Given the description of an element on the screen output the (x, y) to click on. 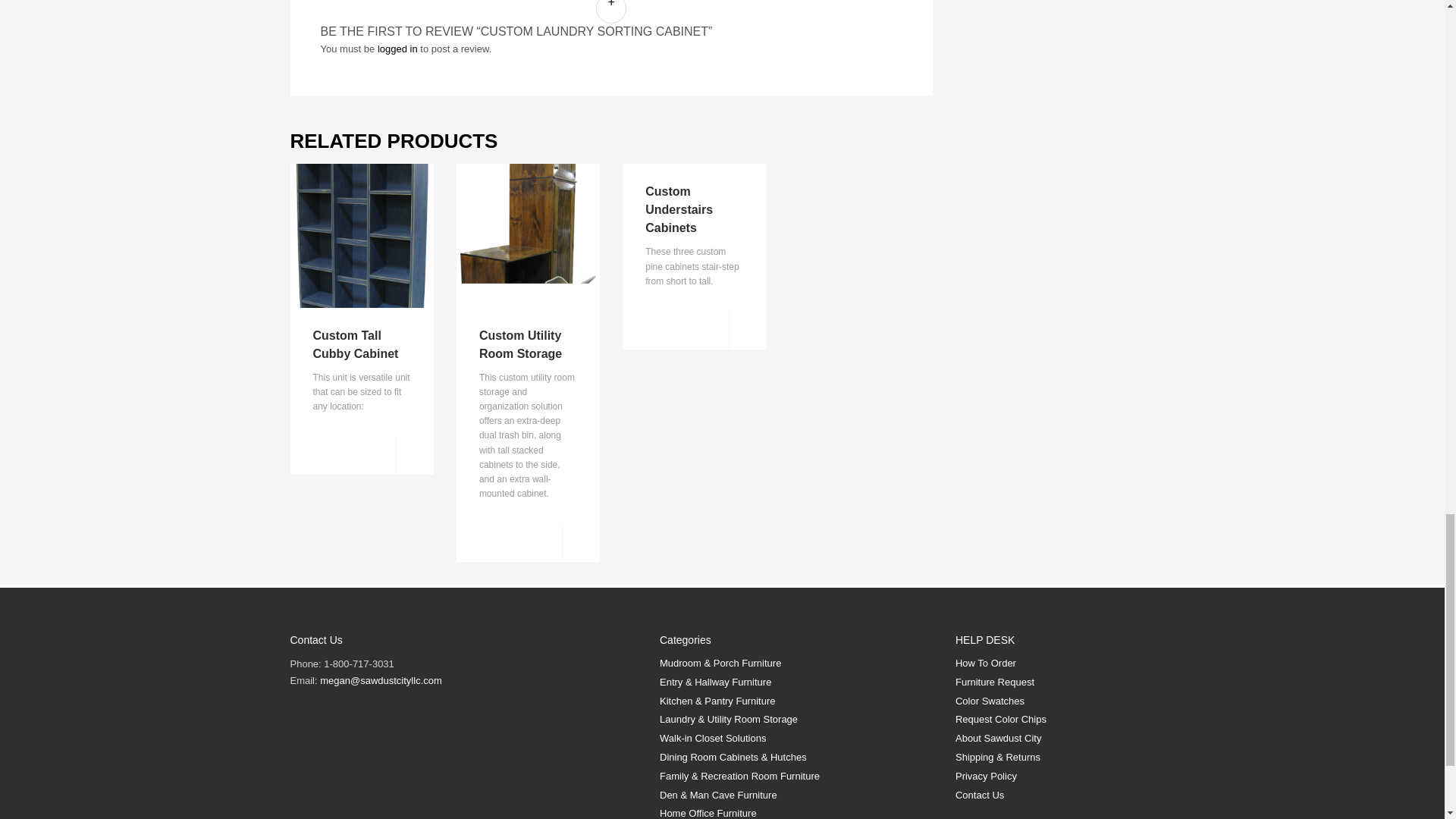
MORE INFO (414, 455)
CC-131-01 (360, 235)
MORE INFO (580, 542)
logged in (397, 48)
CC-113-01 (528, 235)
MORE INFO (414, 455)
MORE INFO (748, 330)
